Given the description of an element on the screen output the (x, y) to click on. 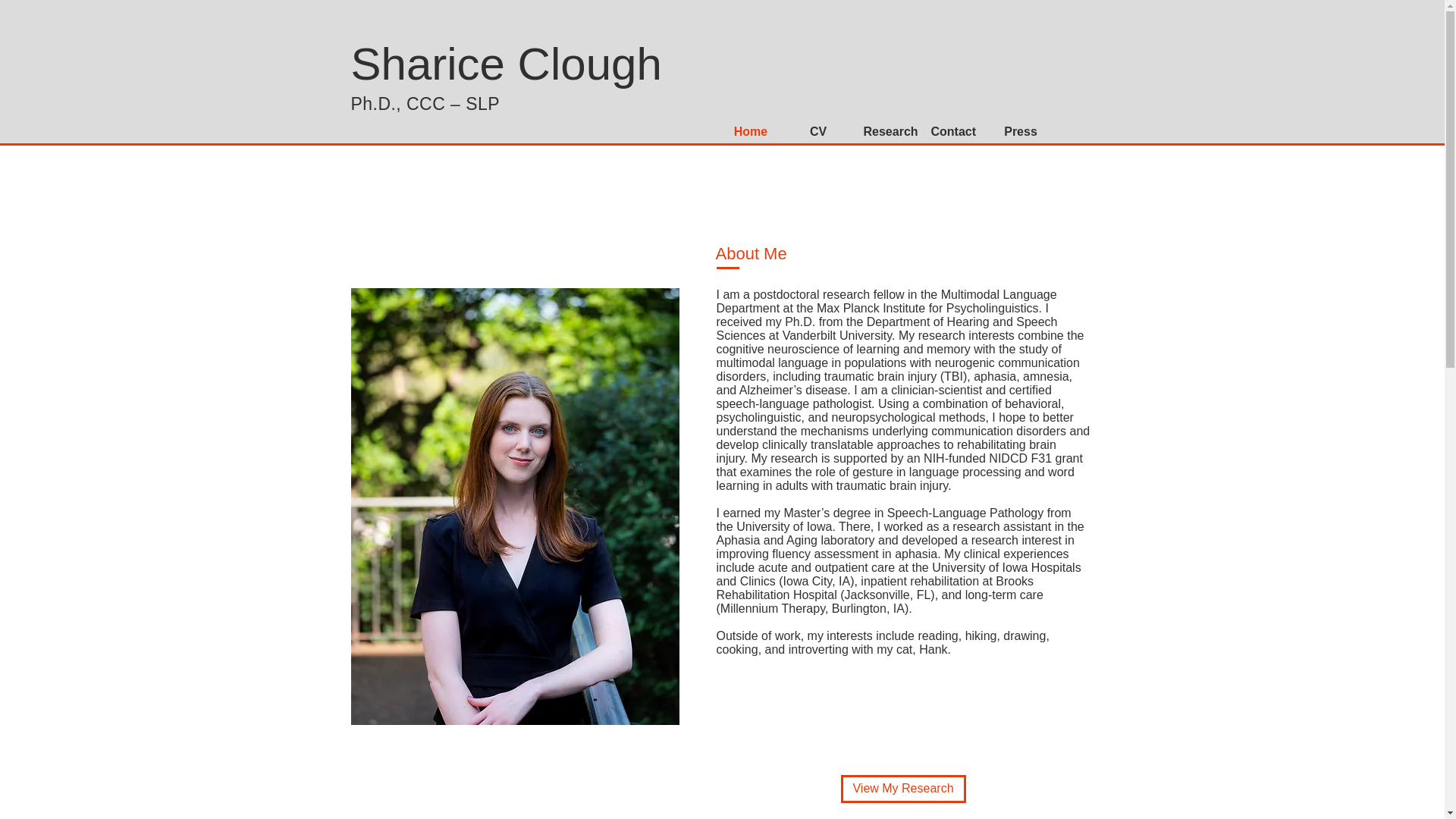
Contact (952, 131)
Research (885, 131)
Sharice Clough (505, 63)
Press (1020, 131)
CV (817, 131)
Home (750, 131)
View My Research (902, 788)
